Given the description of an element on the screen output the (x, y) to click on. 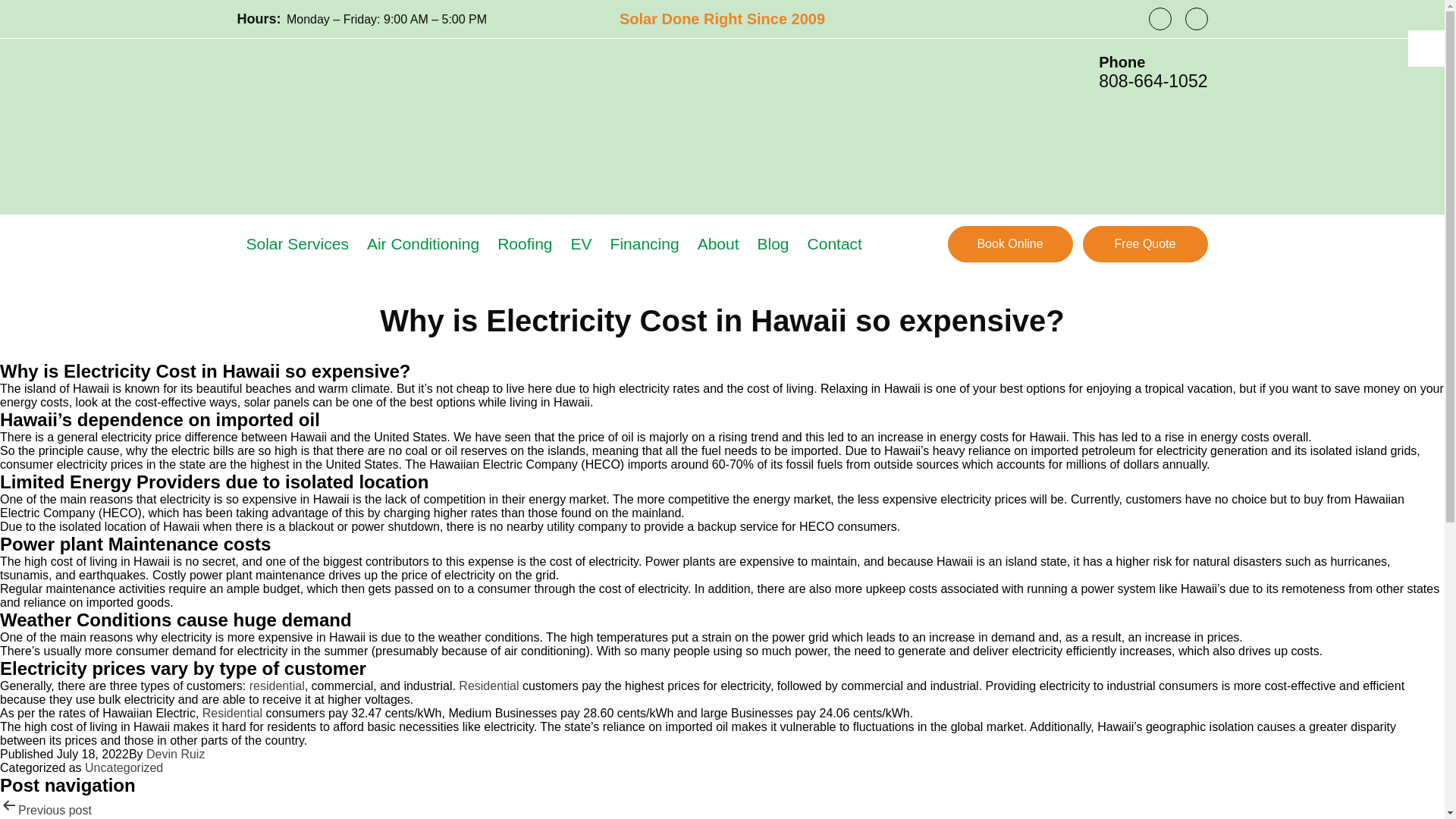
solar pv hawaii (232, 712)
Financing (644, 243)
Air Conditioning (422, 243)
solar pv hawaii (488, 685)
EV (581, 243)
About (718, 243)
Roofing (524, 243)
solar pv hawaii (276, 685)
Solar Services (296, 243)
808-664-1052 (1153, 81)
